Given the description of an element on the screen output the (x, y) to click on. 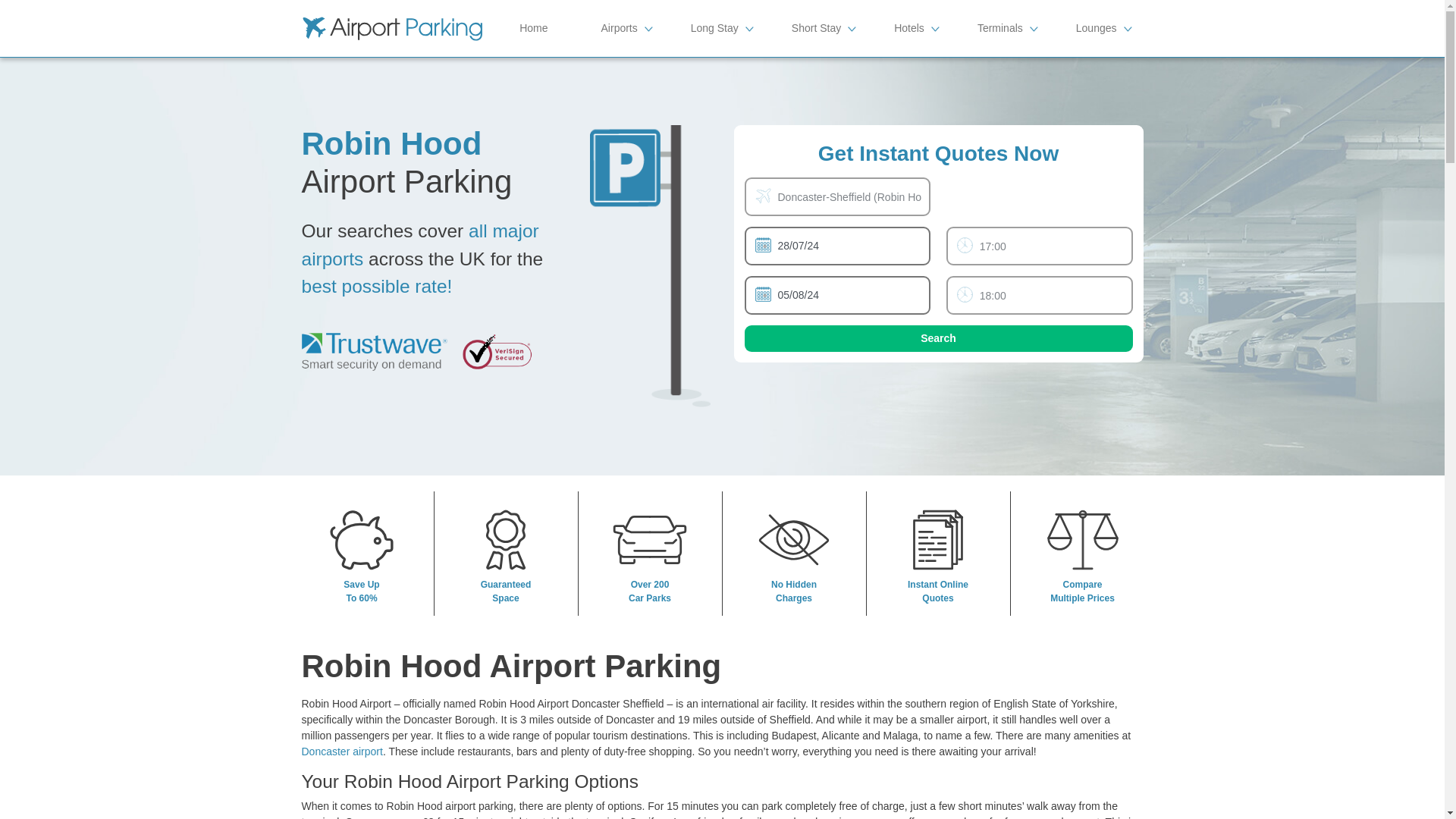
Airports (619, 28)
Long Stay (714, 28)
Airports (619, 28)
Home (533, 28)
Home (533, 28)
